Given the description of an element on the screen output the (x, y) to click on. 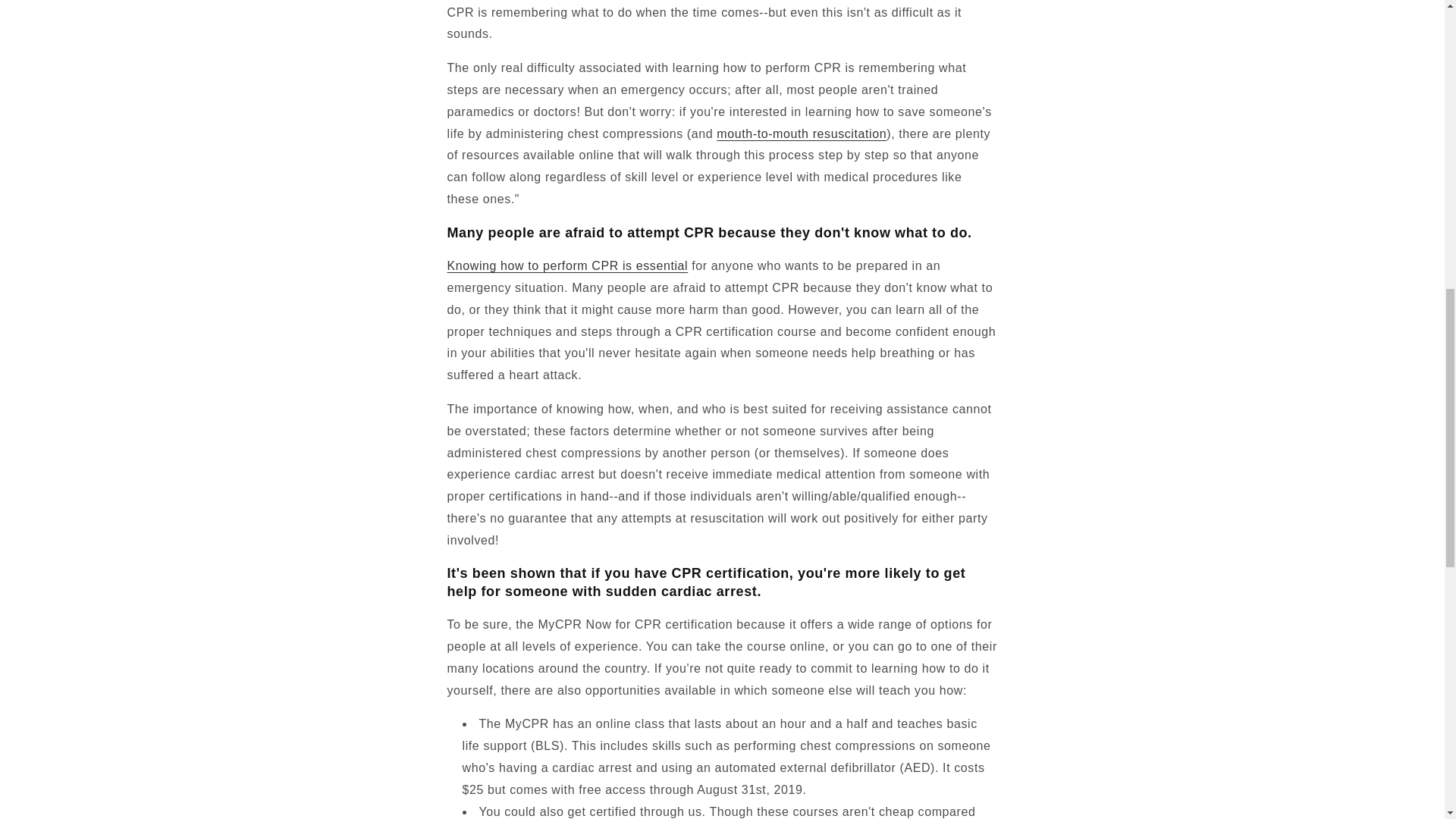
Can Mouth-to-Mouth Resuscitation be Dangerous?  (801, 133)
Knowing how to perform CPR is essential (567, 265)
mouth-to-mouth resuscitation (801, 133)
